Given the description of an element on the screen output the (x, y) to click on. 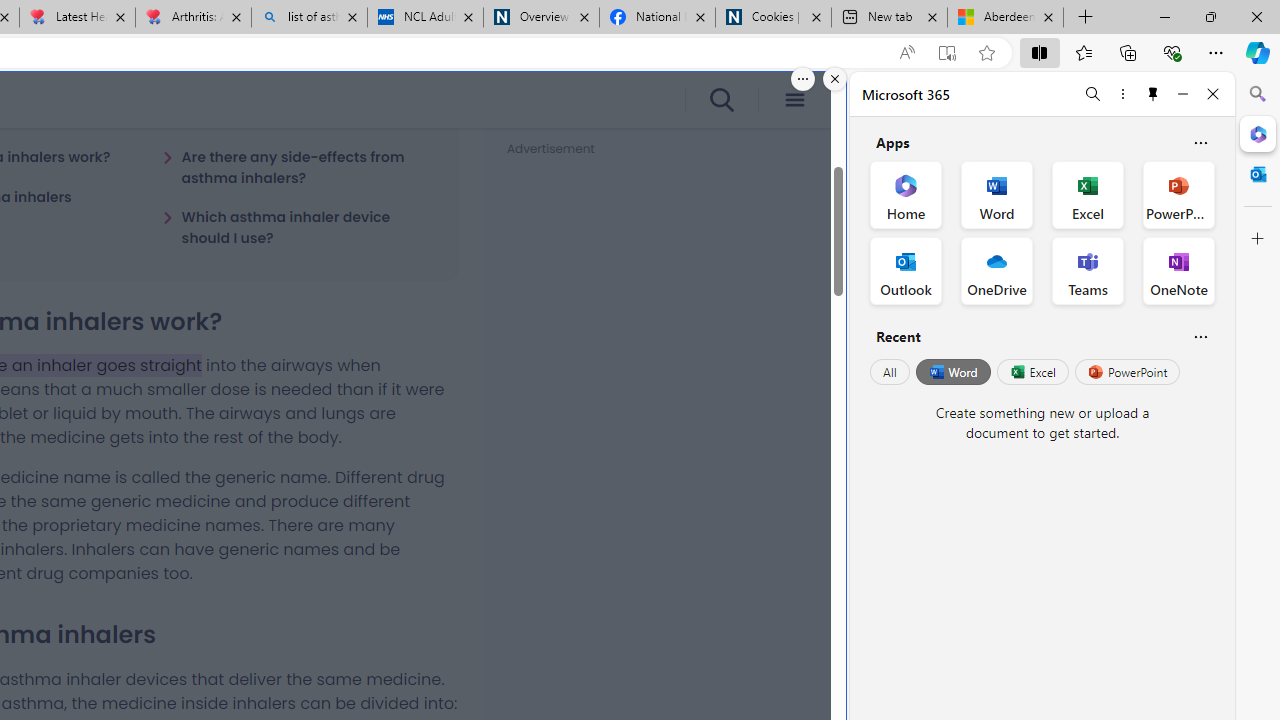
OneDrive Office App (996, 270)
OneNote Office App (1178, 270)
Aberdeen, Hong Kong SAR hourly forecast | Microsoft Weather (1005, 17)
PowerPoint Office App (1178, 194)
